Given the description of an element on the screen output the (x, y) to click on. 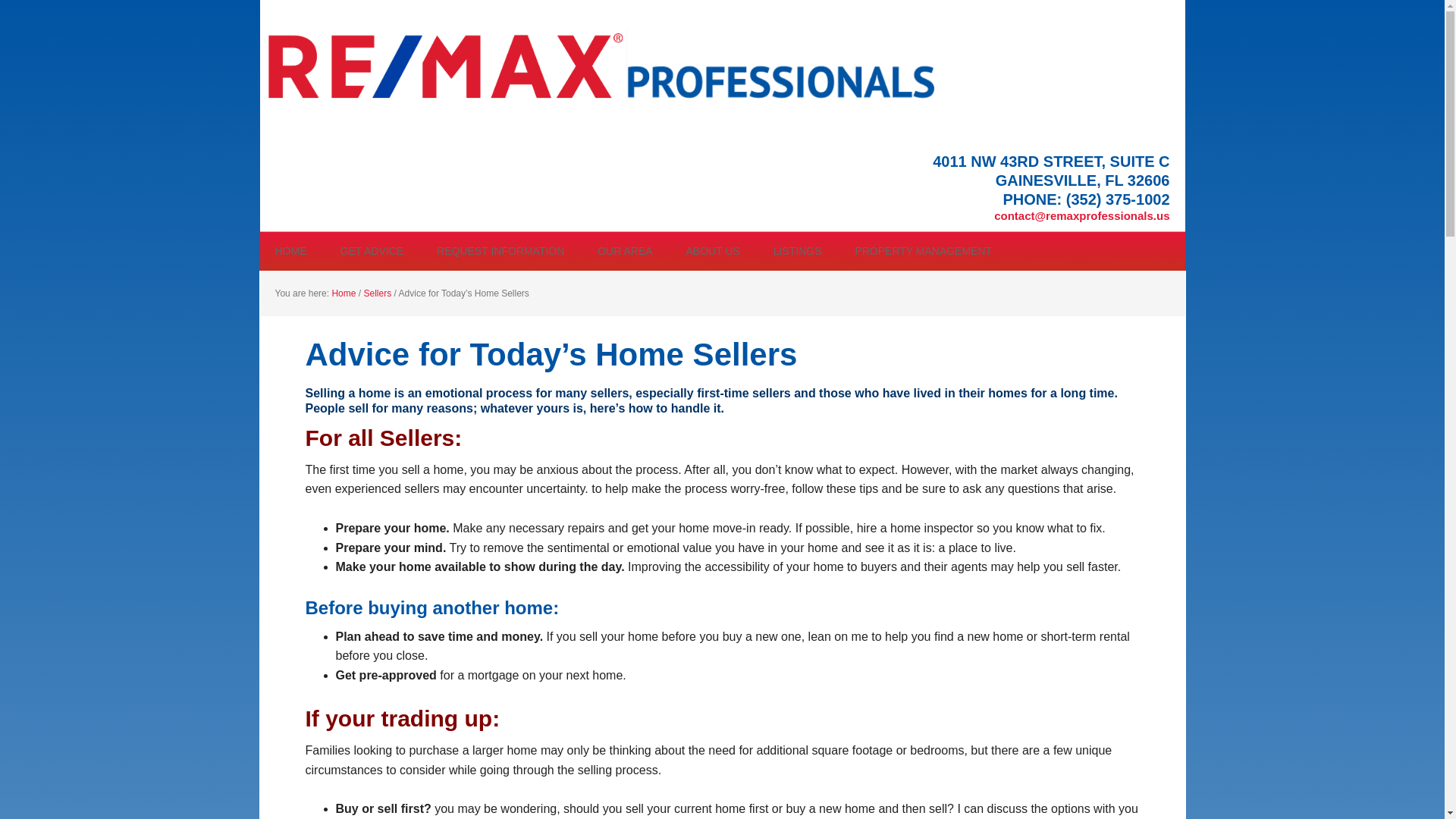
GET ADVICE (371, 250)
REQUEST INFORMATION (500, 250)
ABOUT US (711, 250)
PROPERTY MANAGEMENT (923, 250)
REMAX Professionals (608, 66)
LISTINGS (797, 250)
HOME (290, 250)
Home (343, 293)
OUR AREA (624, 250)
REMAX Professionals (608, 69)
